Given the description of an element on the screen output the (x, y) to click on. 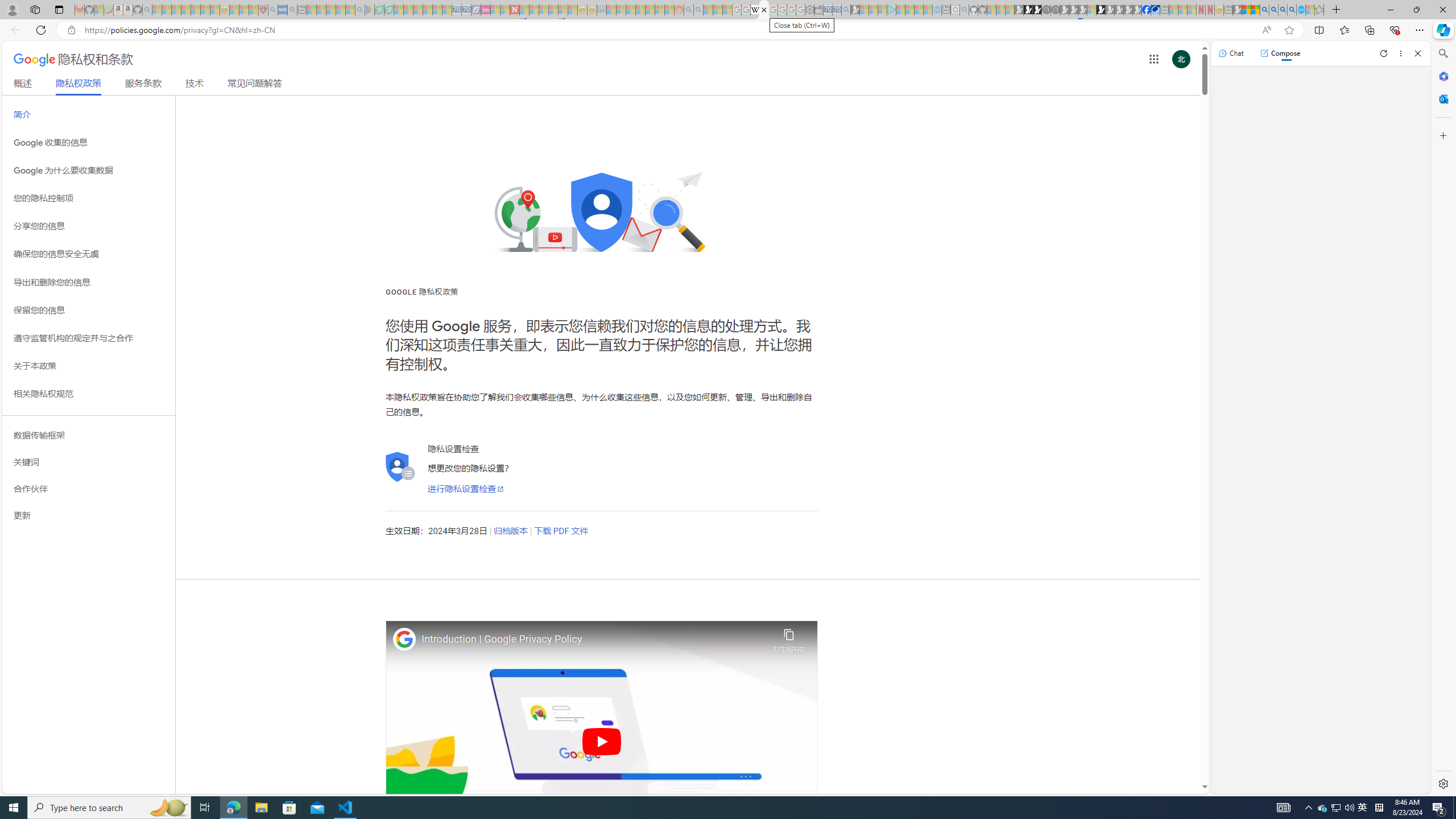
Kinda Frugal - MSN - Sleeping (649, 9)
Cheap Hotels - Save70.com - Sleeping (466, 9)
Settings - Sleeping (809, 9)
Wallet - Sleeping (818, 9)
